Given the description of an element on the screen output the (x, y) to click on. 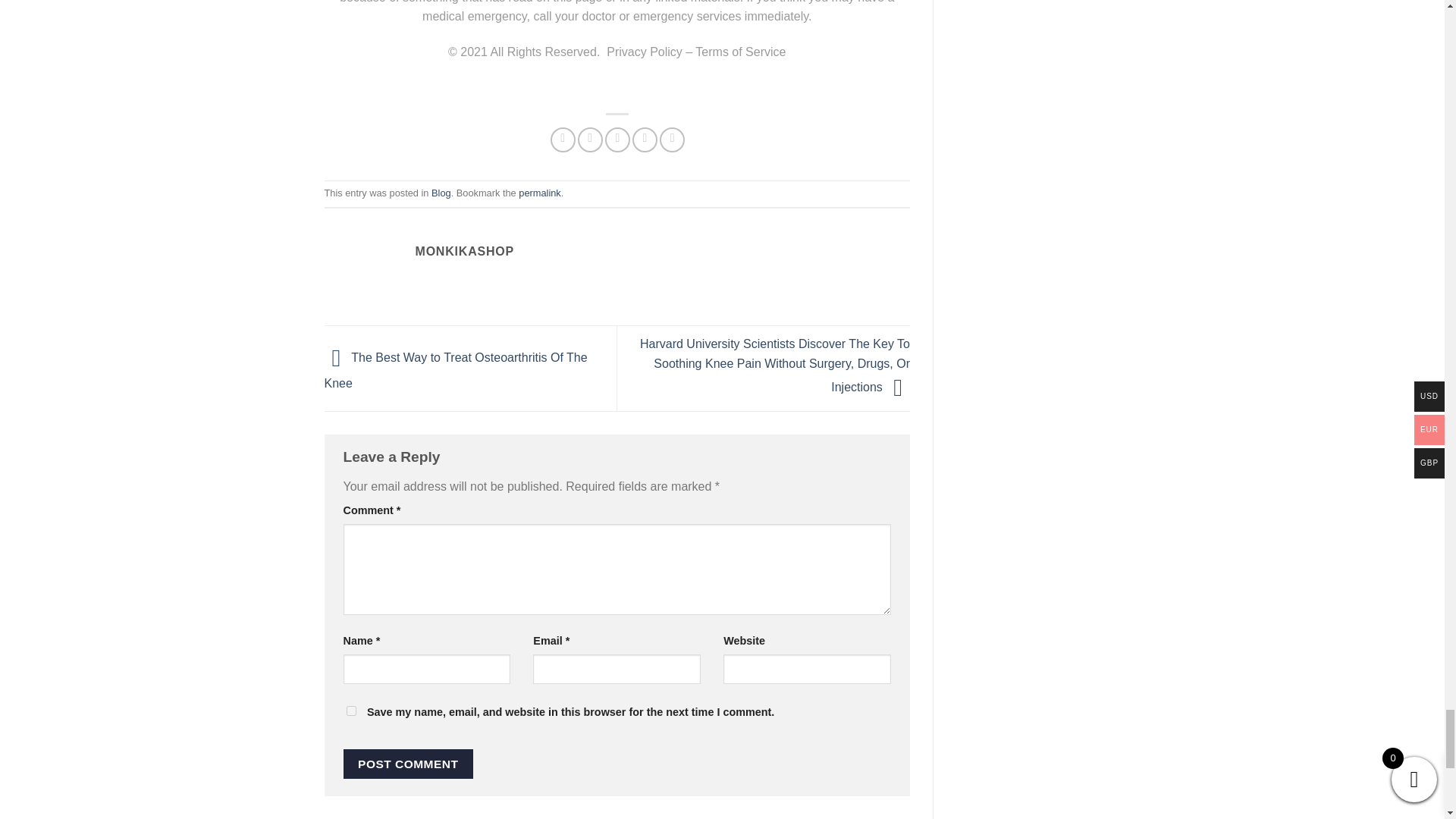
Post Comment (407, 763)
permalink (539, 193)
Blog (440, 193)
The Best Way to Treat Osteoarthritis Of The Knee (456, 370)
yes (350, 710)
